Given the description of an element on the screen output the (x, y) to click on. 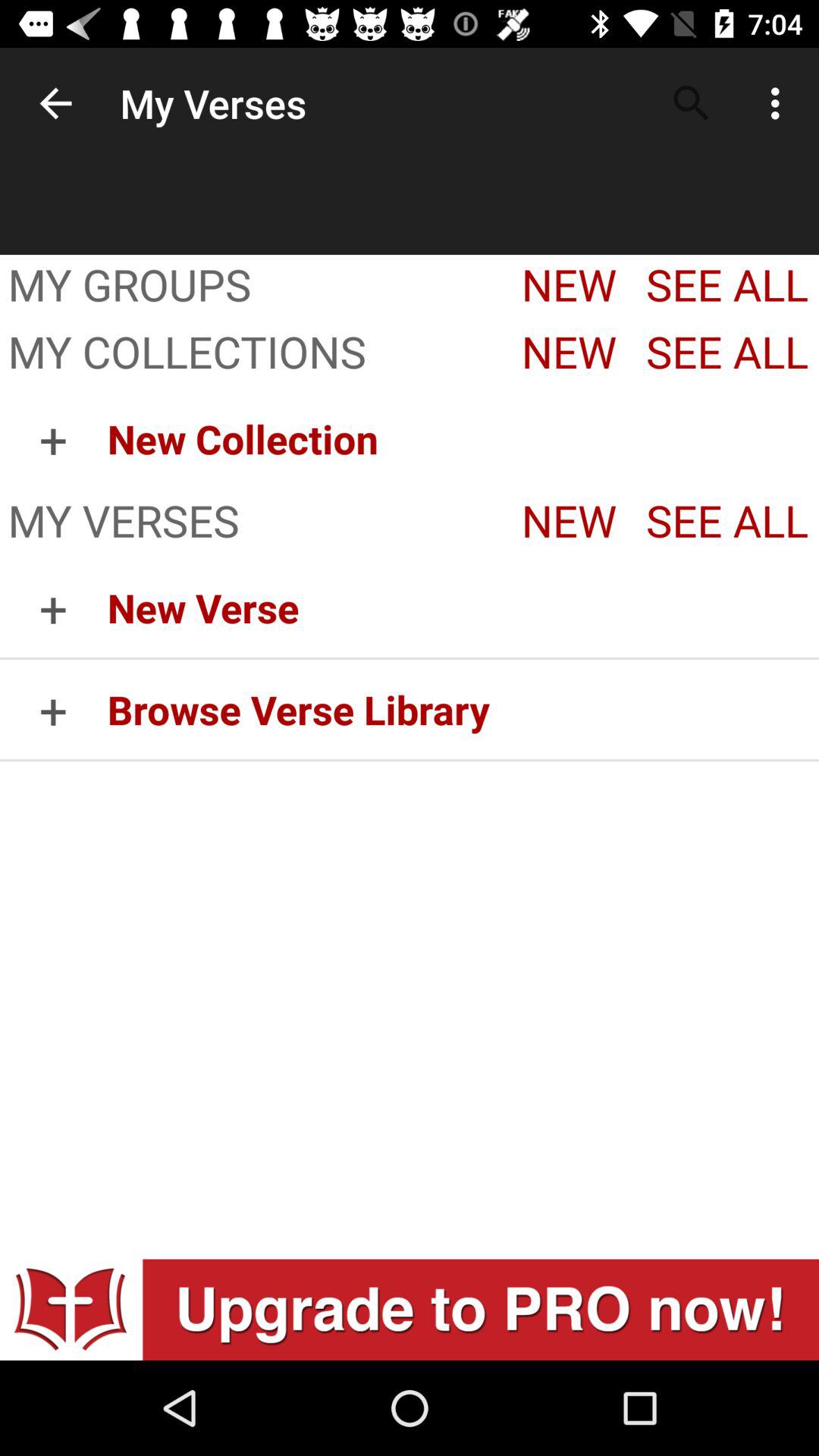
turn off the item to the left of the new collection item (53, 438)
